Given the description of an element on the screen output the (x, y) to click on. 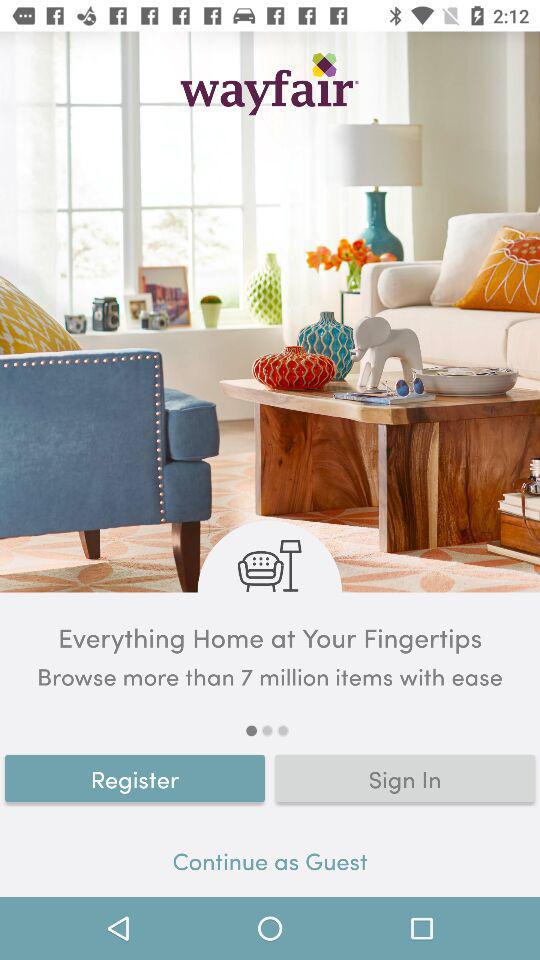
swipe until the sign in (405, 778)
